Given the description of an element on the screen output the (x, y) to click on. 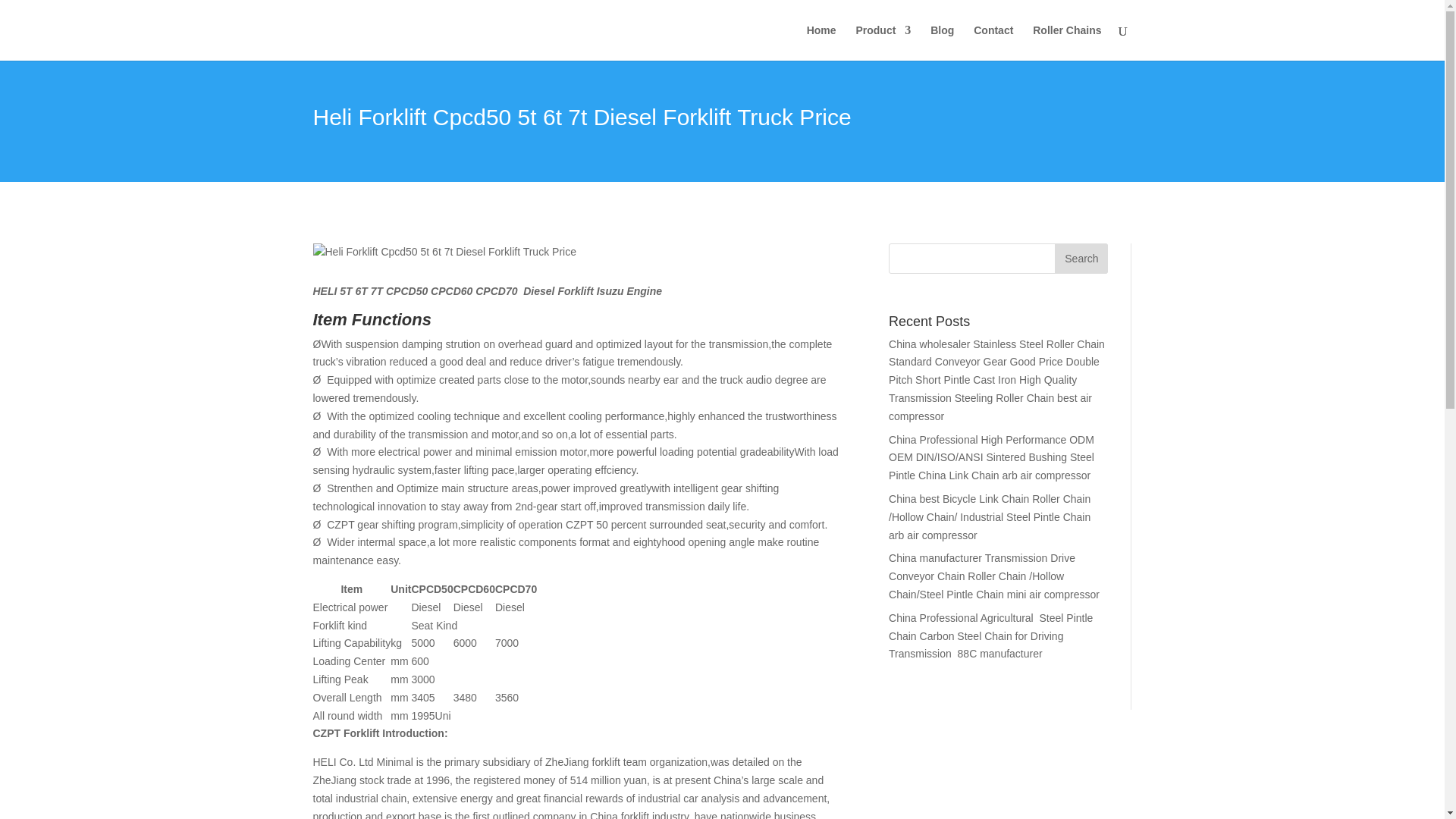
Heli Forklift Cpcd50 5t 6t 7t Diesel Forklift Truck Price (444, 252)
Home (820, 42)
Search (1081, 258)
Roller Chains (1066, 42)
Contact (993, 42)
Product (883, 42)
Blog (941, 42)
Search (1081, 258)
